Given the description of an element on the screen output the (x, y) to click on. 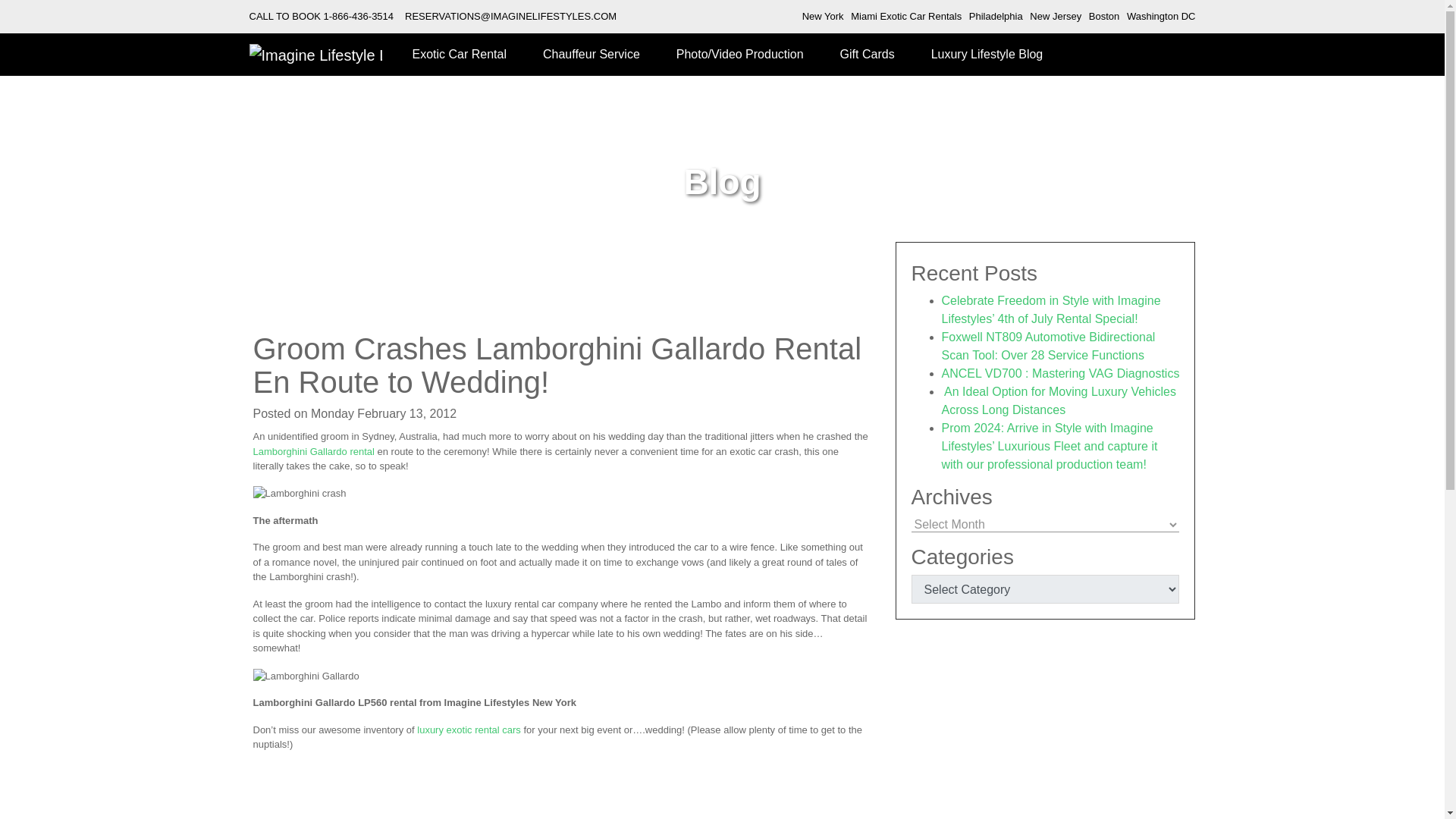
Washington DC (1160, 16)
New York (823, 16)
Philadelphia (996, 16)
luxury exotic rental cars (468, 729)
New Jersey (1055, 16)
Philadelphia (996, 16)
Gift Cards (867, 54)
Boston (1104, 16)
Miami Exotic Car Rentals (905, 16)
Chauffeur Service (591, 54)
Washington DC (1160, 16)
Lamborghini Gallardo rental (313, 451)
Luxury Lifestyle Blog (986, 54)
Boston (1104, 16)
Miami (905, 16)
